Given the description of an element on the screen output the (x, y) to click on. 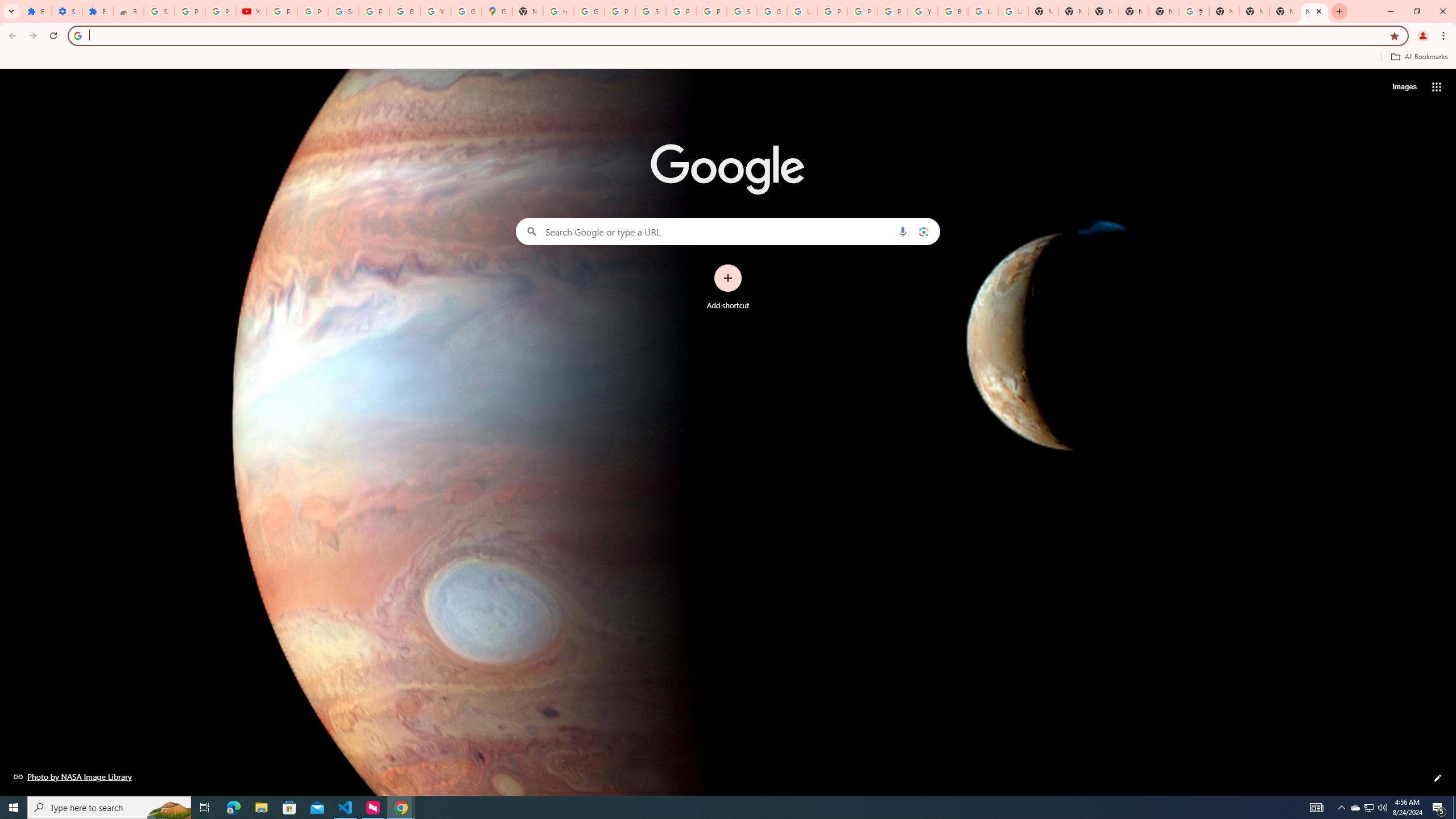
Reviews: Helix Fruit Jump Arcade Game (127, 11)
Customize this page (1437, 778)
Bookmarks (728, 58)
Extensions (36, 11)
